Given the description of an element on the screen output the (x, y) to click on. 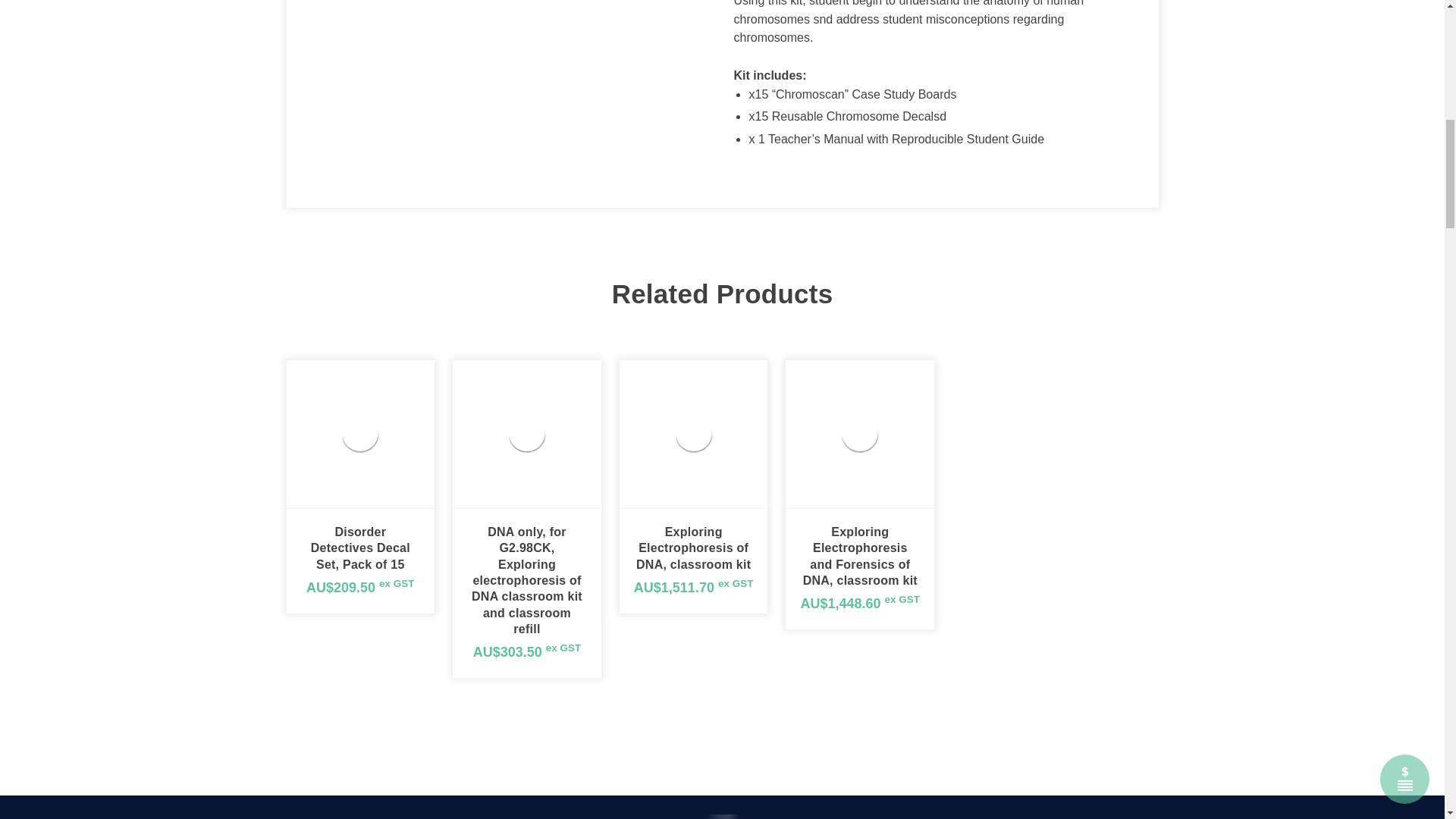
Exploring Electrophoresis of DNA, classroom kit (693, 433)
Disorder Detectives Decal Set, Pack of 15 (359, 433)
